Given the description of an element on the screen output the (x, y) to click on. 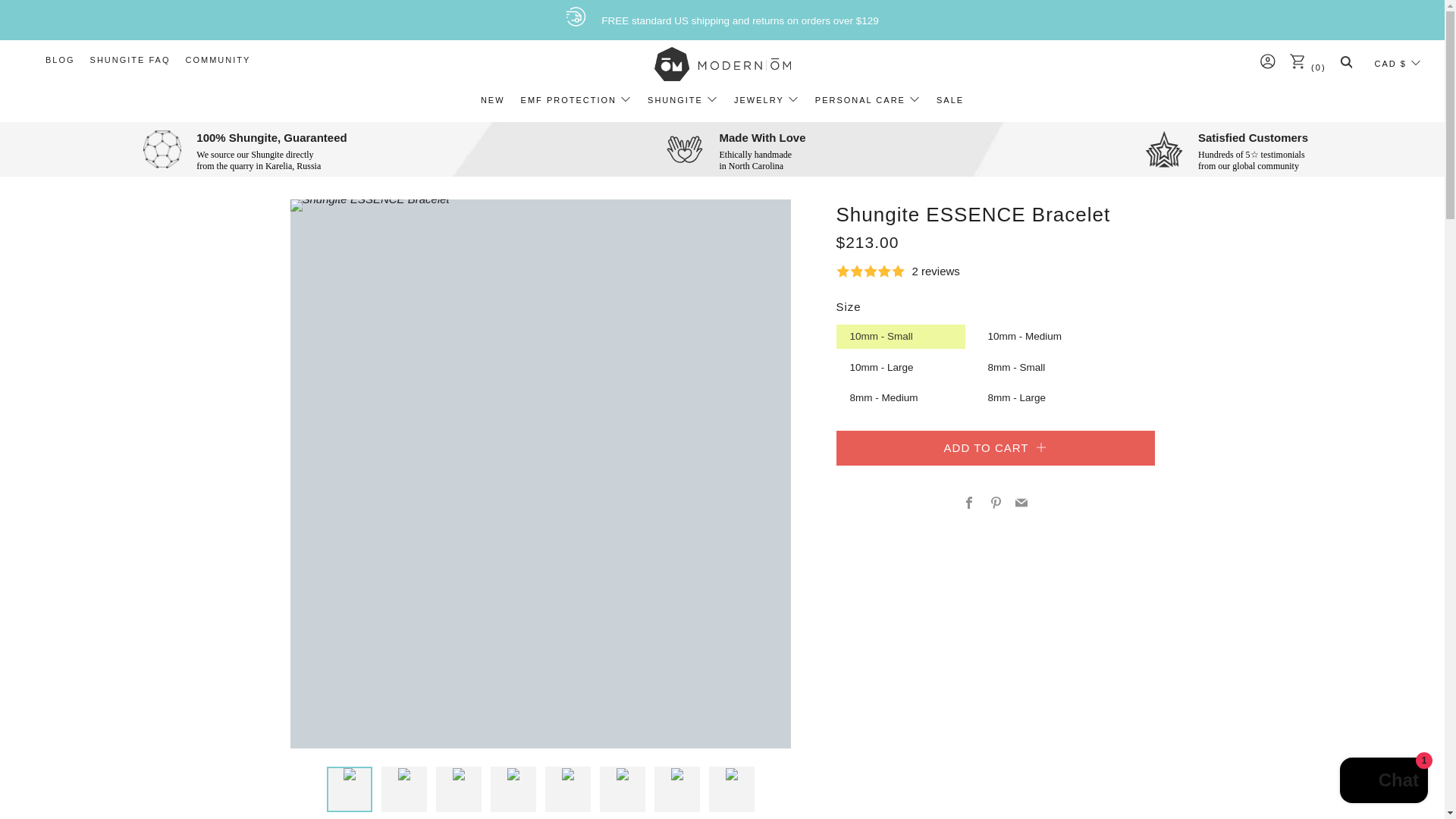
Shopify online store chat (1383, 781)
